Given the description of an element on the screen output the (x, y) to click on. 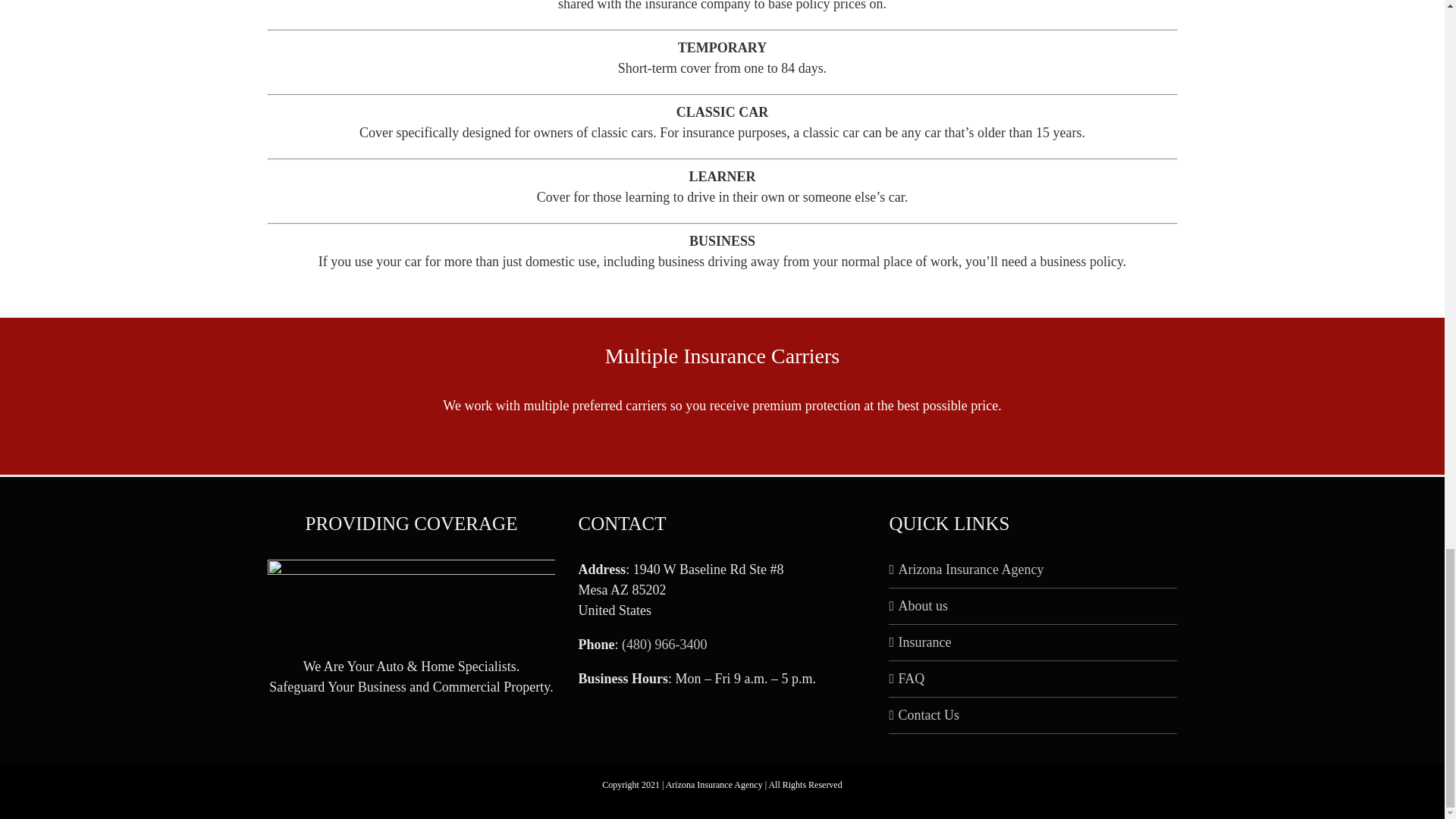
Arizona Insurance Agency (1033, 569)
About us (1033, 606)
Insurance (1033, 642)
Contact Us (1033, 715)
FAQ (1033, 679)
